Given the description of an element on the screen output the (x, y) to click on. 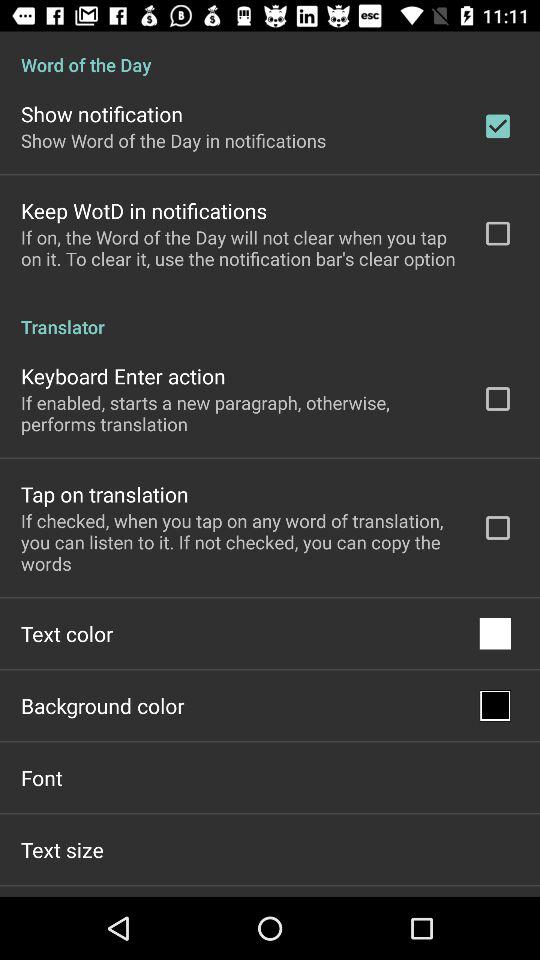
select item above font app (102, 705)
